Given the description of an element on the screen output the (x, y) to click on. 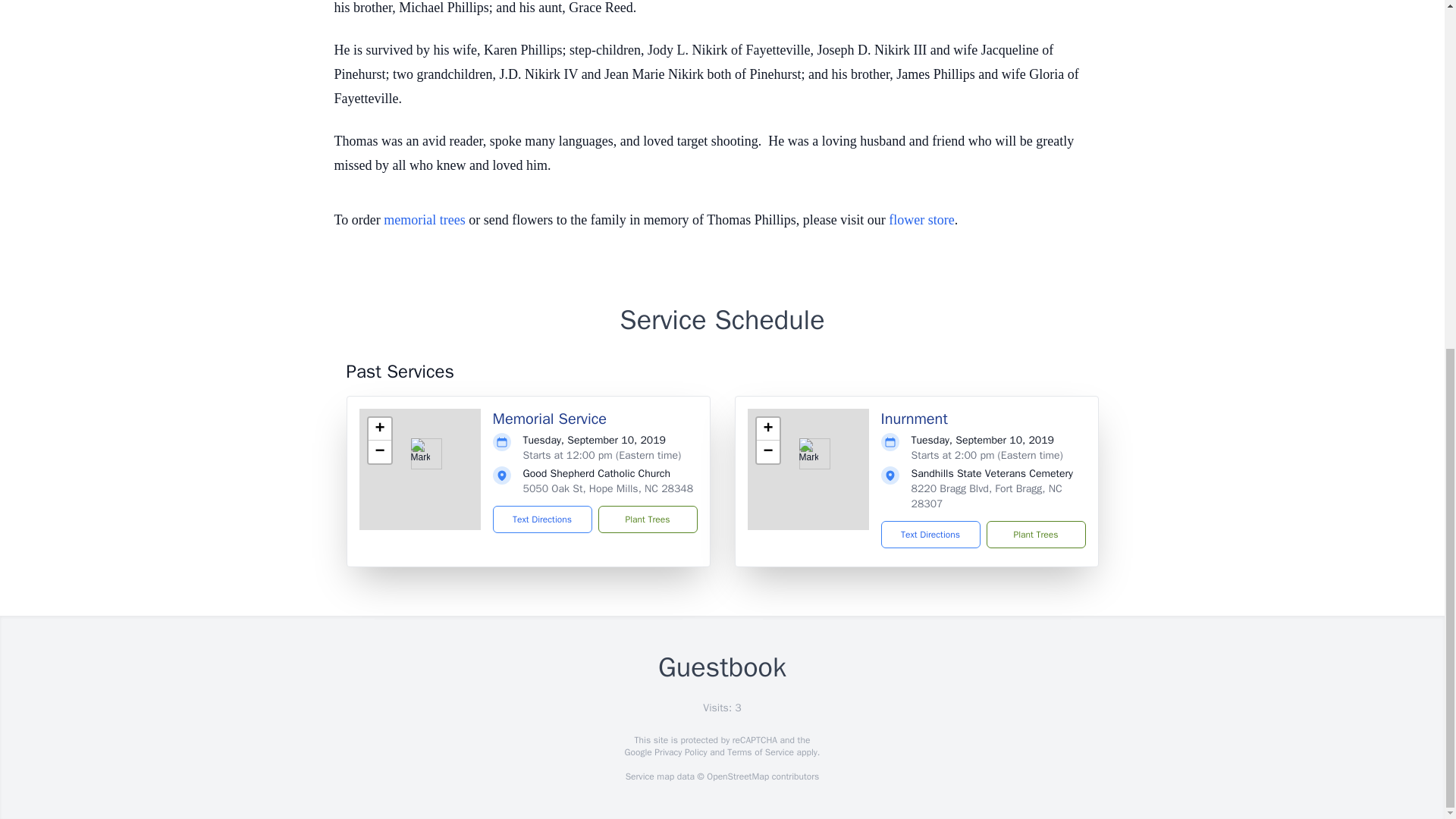
5050 Oak St, Hope Mills, NC 28348 (608, 488)
Plant Trees (1034, 533)
flower store (920, 219)
Plant Trees (646, 519)
OpenStreetMap (737, 776)
Zoom out (379, 451)
Zoom in (379, 428)
8220 Bragg Blvd, Fort Bragg, NC 28307 (986, 496)
memorial trees (424, 219)
Zoom out (767, 451)
Privacy Policy (679, 752)
Zoom in (767, 428)
Text Directions (542, 519)
Terms of Service (759, 752)
Text Directions (929, 533)
